Given the description of an element on the screen output the (x, y) to click on. 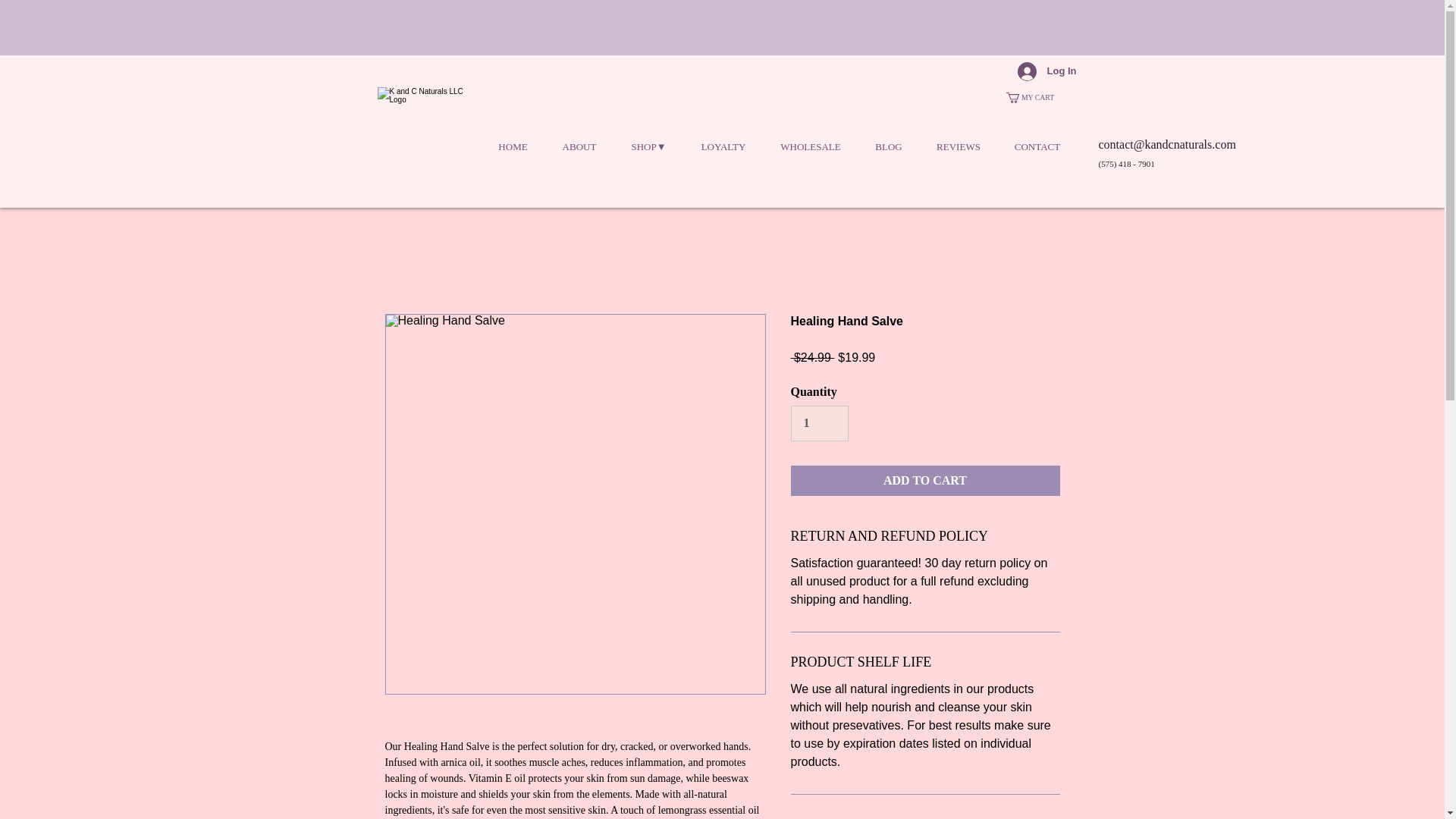
WHOLESALE (809, 146)
REVIEWS (957, 146)
LOYALTY (723, 146)
HOME (512, 146)
BLOG (889, 146)
MY CART (1035, 97)
MY CART (1035, 97)
1 (818, 422)
ADD TO CART (924, 481)
CONTACT (1037, 146)
Log In (1047, 71)
ABOUT (578, 146)
